Given the description of an element on the screen output the (x, y) to click on. 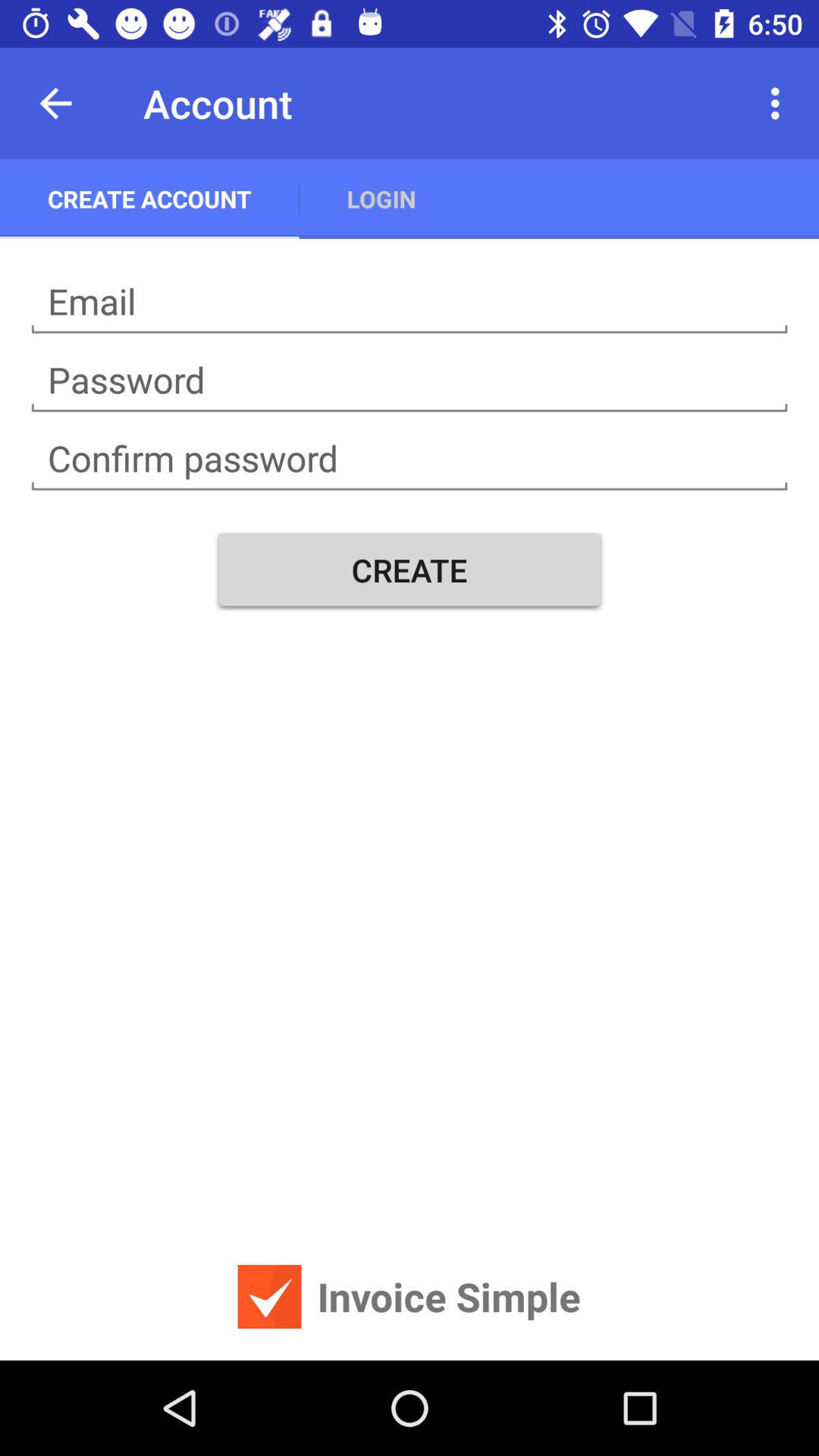
turn on item at the top right corner (779, 103)
